Given the description of an element on the screen output the (x, y) to click on. 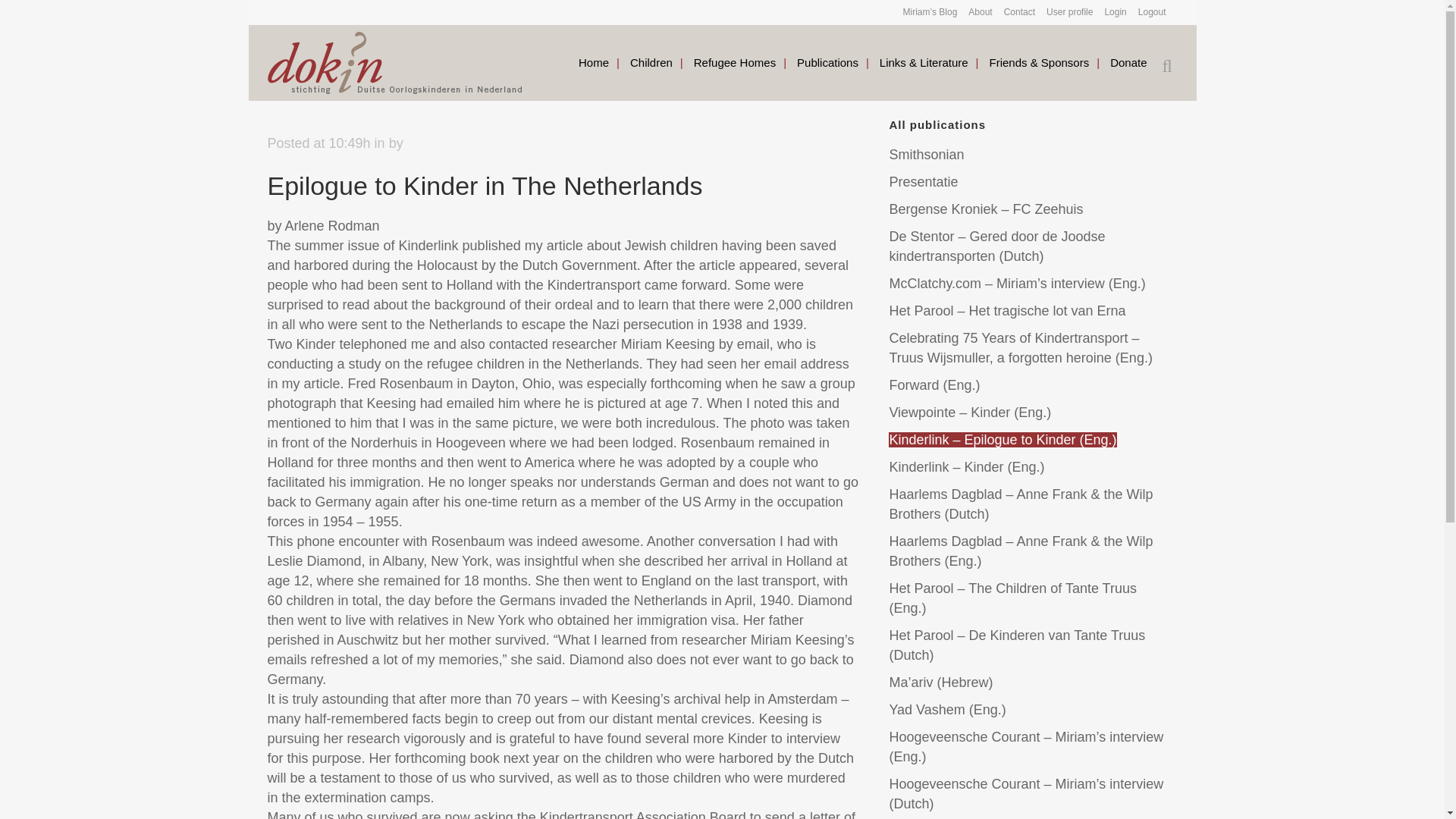
Smithsonian (925, 154)
Contact (1013, 12)
About (973, 12)
Presentatie (923, 181)
Login (1109, 12)
Donate (1128, 62)
Refugee Homes (734, 62)
Publications (827, 62)
User profile (1064, 12)
Logout (1146, 12)
Children (651, 62)
Home (593, 62)
